Given the description of an element on the screen output the (x, y) to click on. 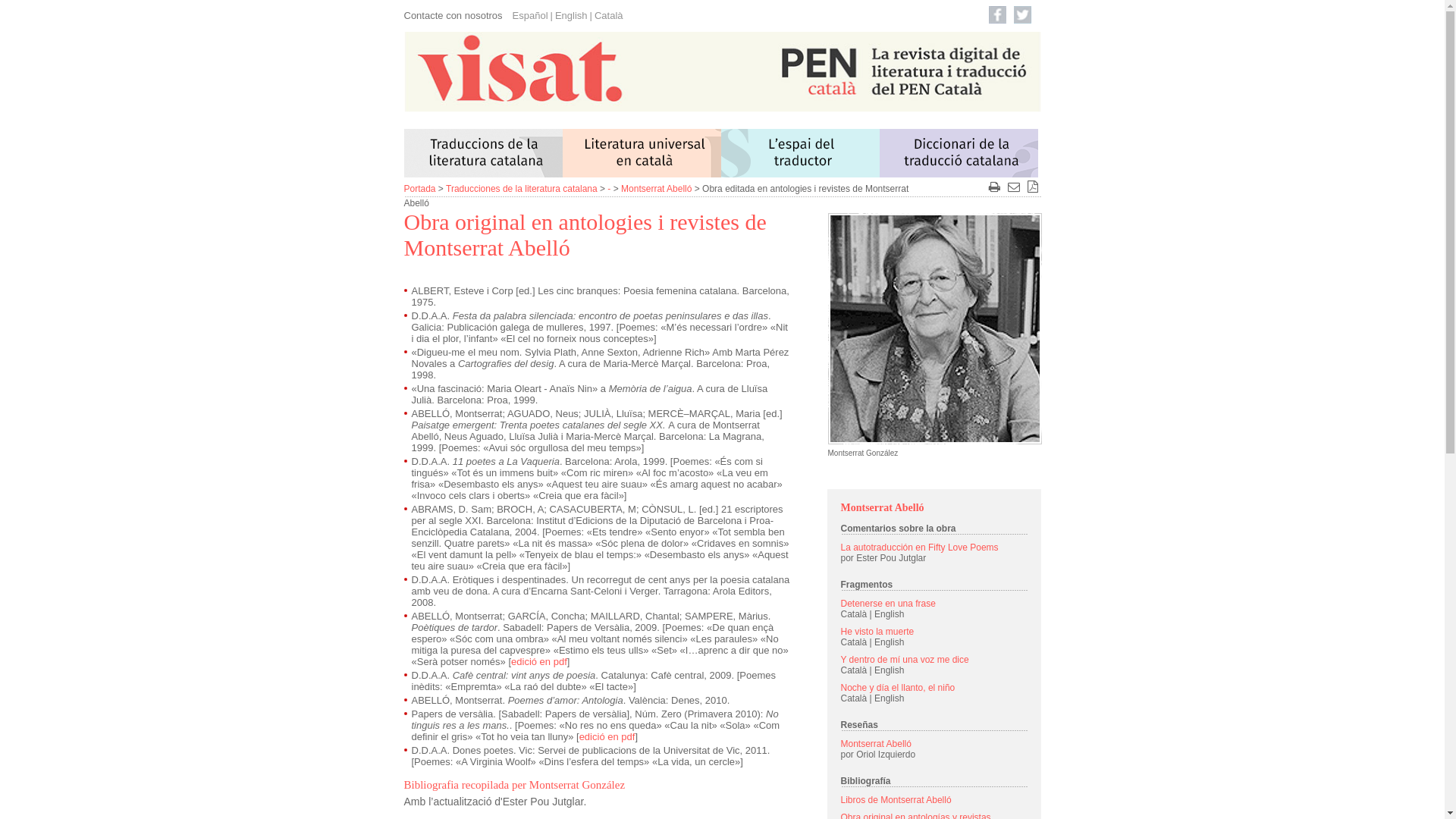
Facebook Element type: text (997, 14)
Contacte con nosotros Element type: text (452, 15)
- Element type: text (608, 188)
Twitter Element type: text (1021, 14)
Traducciones de la literatura catalana Element type: text (521, 188)
English Element type: text (571, 15)
He visto la muerte Element type: text (876, 631)
Detenerse en una frase Element type: text (887, 603)
Portada Element type: text (419, 188)
